Given the description of an element on the screen output the (x, y) to click on. 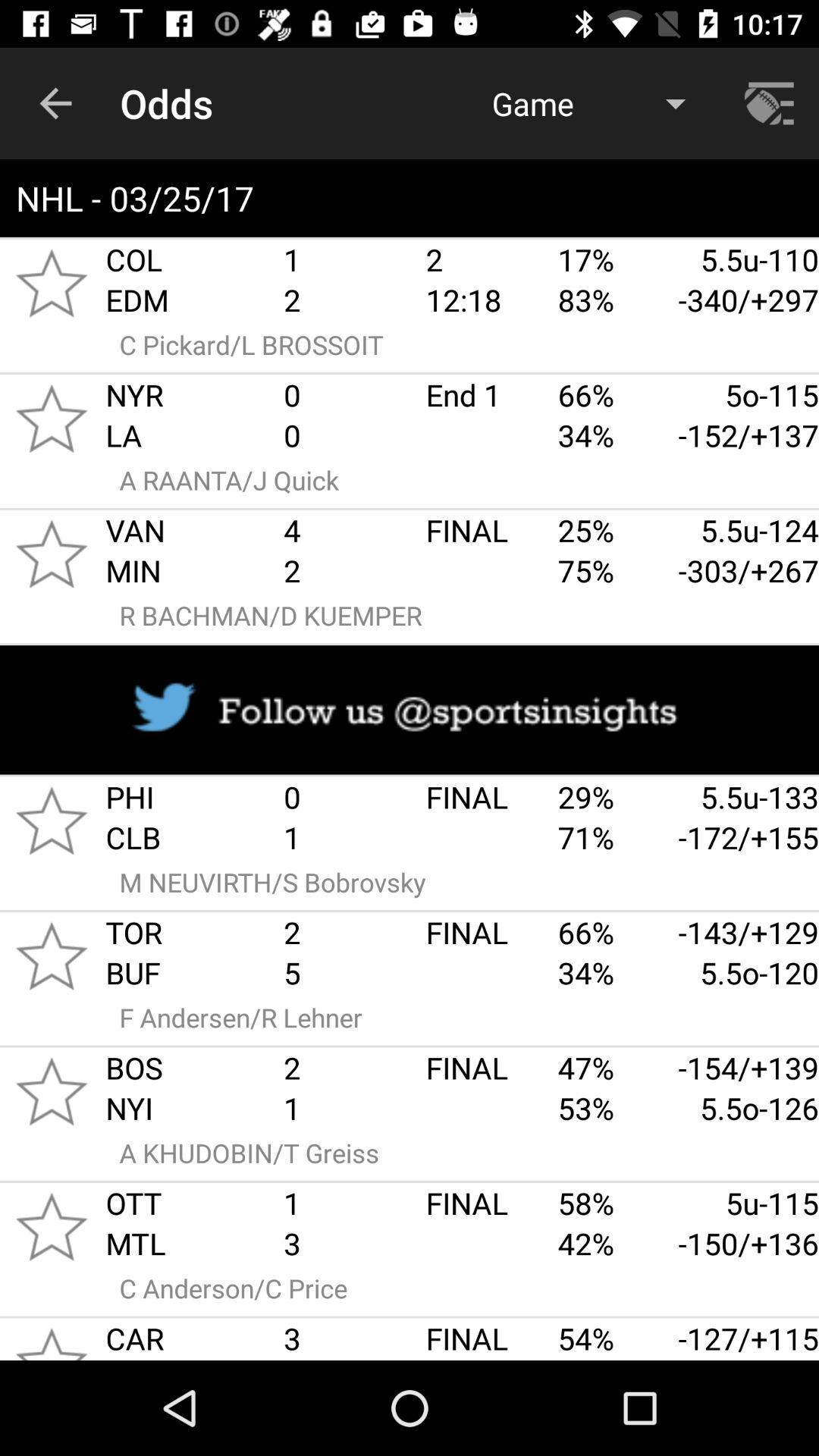
option to select like (51, 1226)
